Given the description of an element on the screen output the (x, y) to click on. 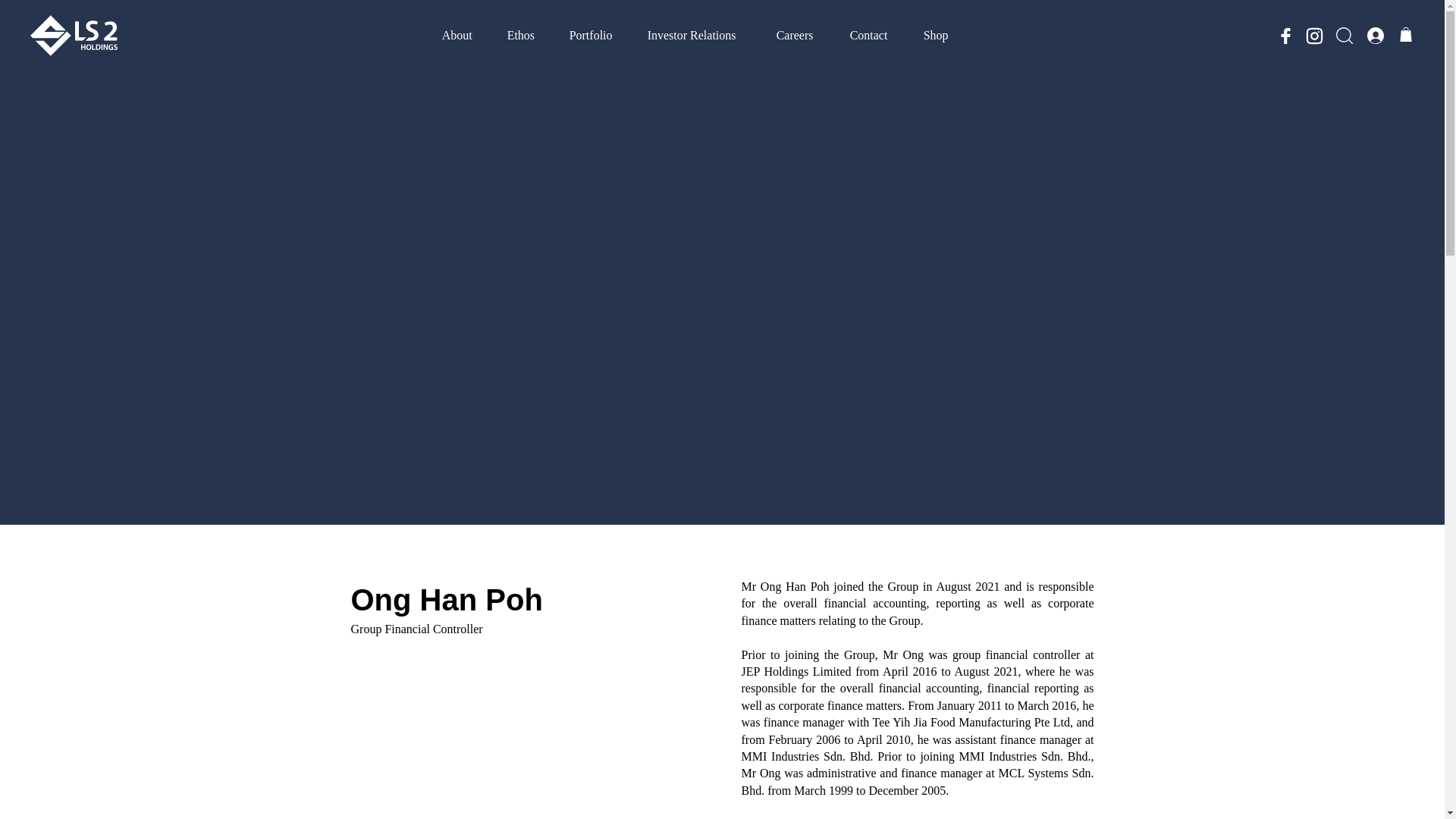
Investor Relations (700, 35)
Careers (801, 35)
. (1381, 35)
Ethos (526, 35)
Shop (941, 35)
Portfolio (596, 35)
Contact (875, 35)
About (463, 35)
